Given the description of an element on the screen output the (x, y) to click on. 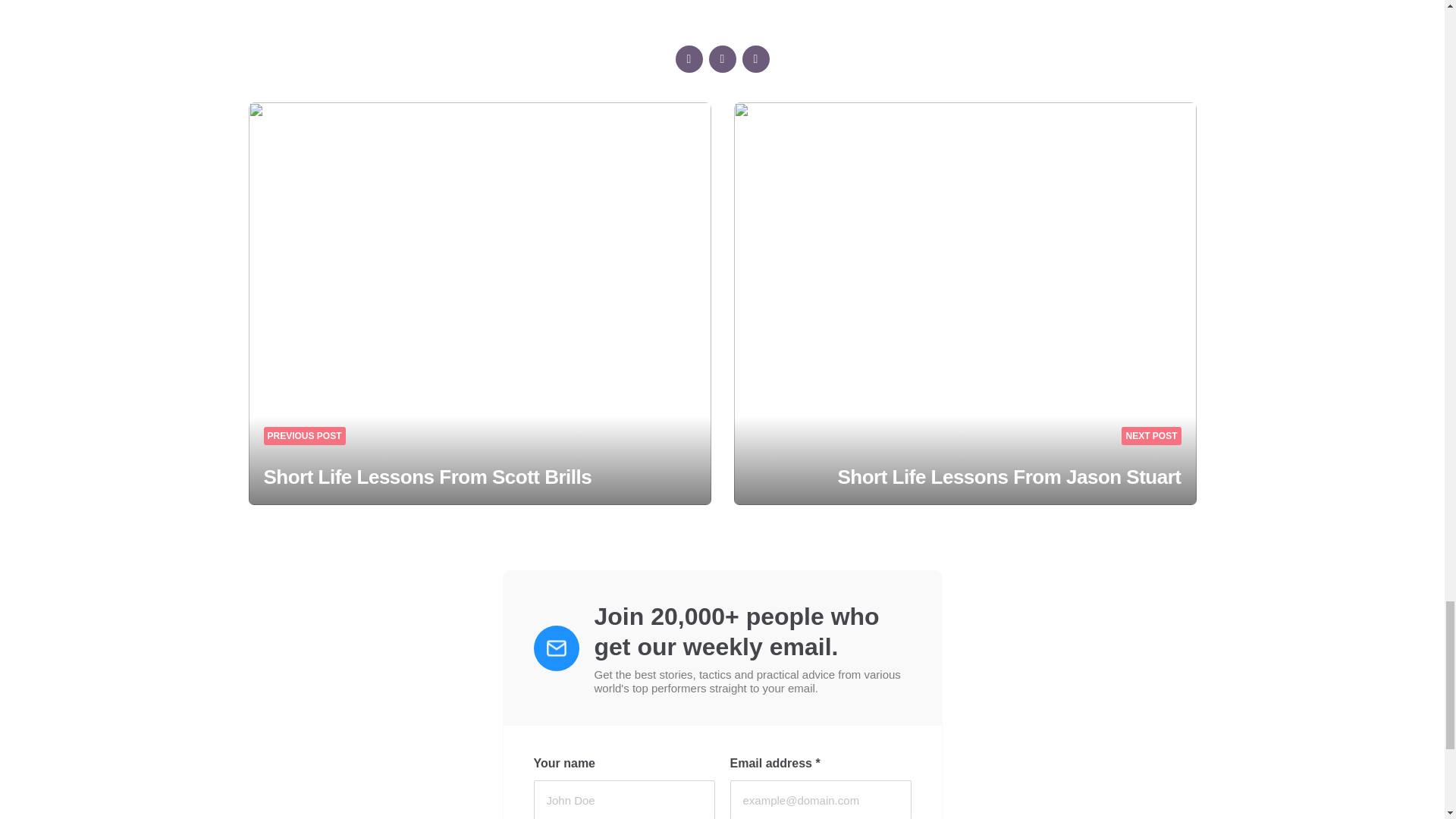
Short Life Lessons From Jason Stuart (1009, 477)
Short Life Lessons From Scott Brills (427, 477)
